Given the description of an element on the screen output the (x, y) to click on. 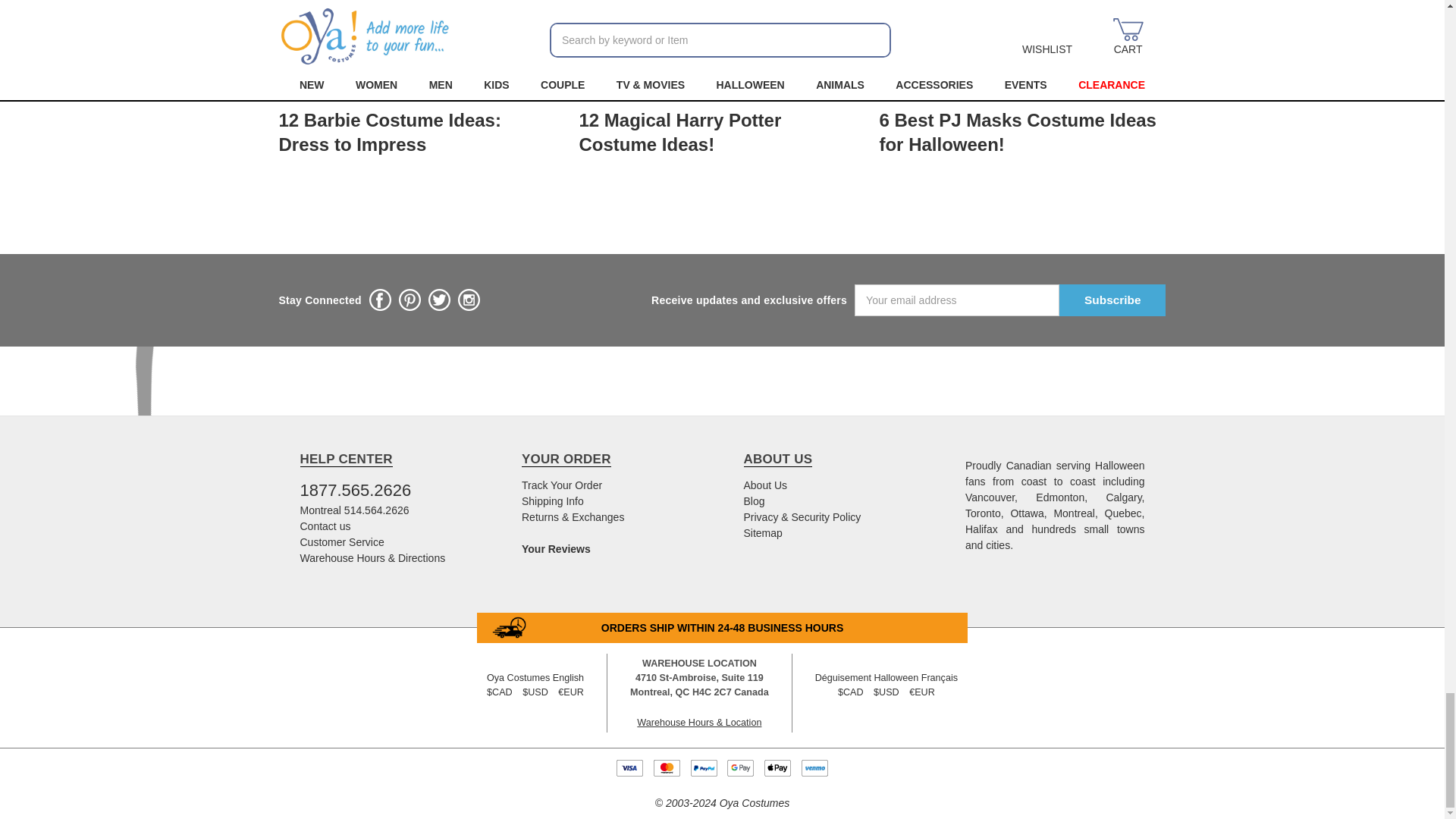
Subscribe (1112, 300)
